Given the description of an element on the screen output the (x, y) to click on. 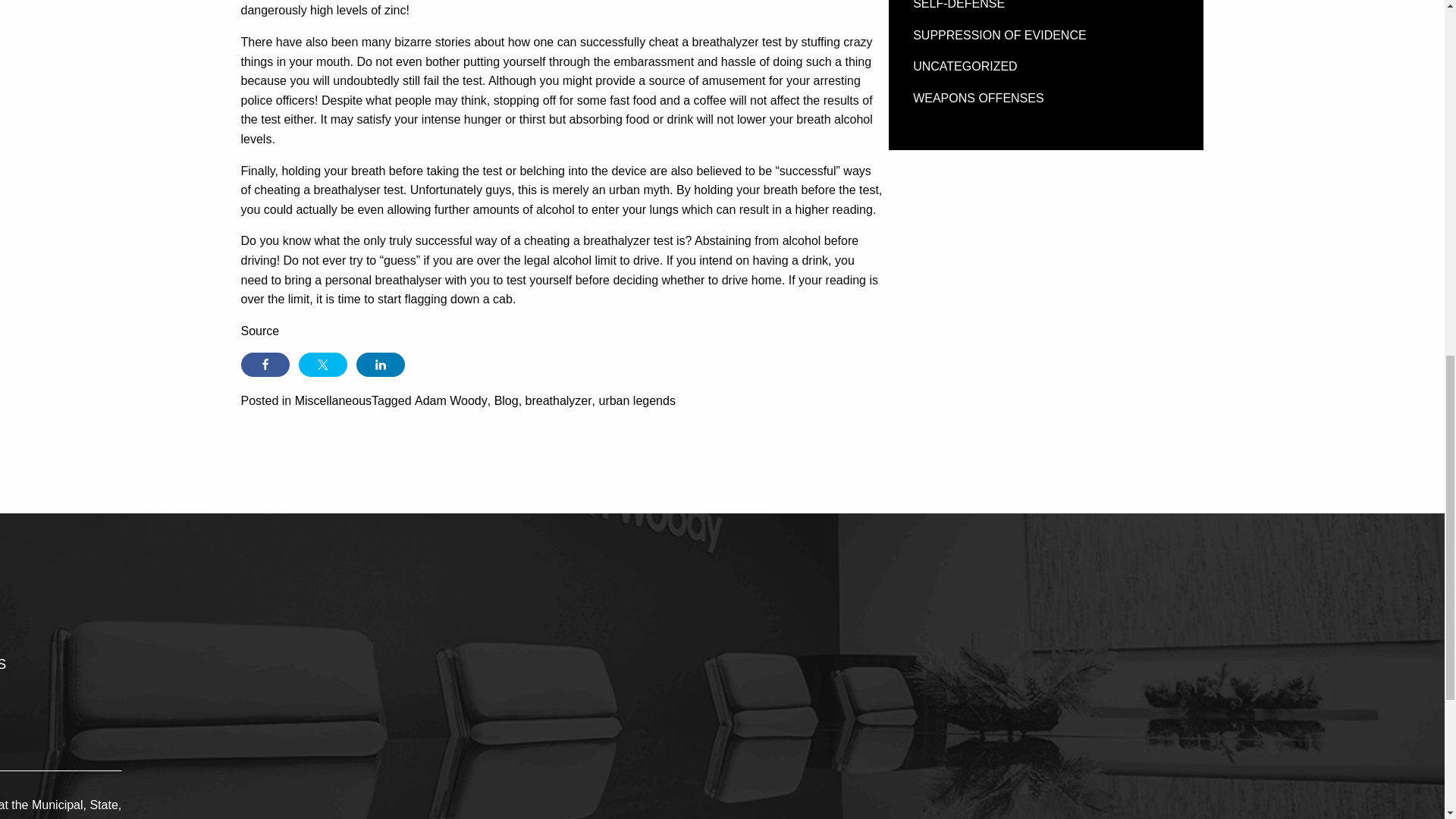
Share on LinkedIn (380, 364)
Miscellaneous (333, 400)
urban legends (636, 400)
Share on Twitter (322, 364)
Blog (506, 400)
breathalyzer (558, 400)
Adam Woody (450, 400)
Share on Facebook (265, 364)
Source (260, 330)
